Given the description of an element on the screen output the (x, y) to click on. 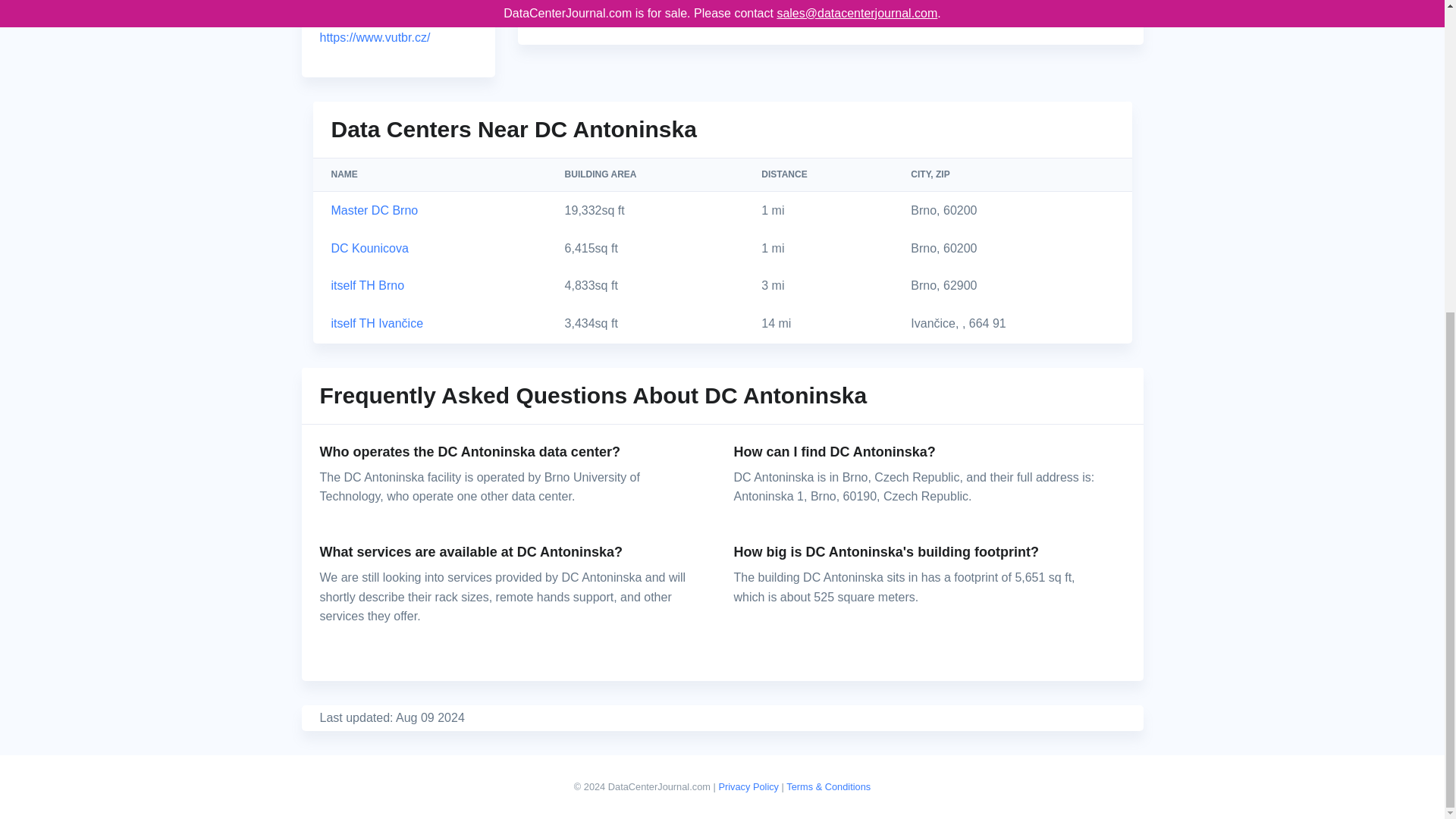
itself TH Brno (367, 285)
Privacy Policy (747, 786)
DC Kounicova (368, 247)
Master DC Brno (373, 210)
